Given the description of an element on the screen output the (x, y) to click on. 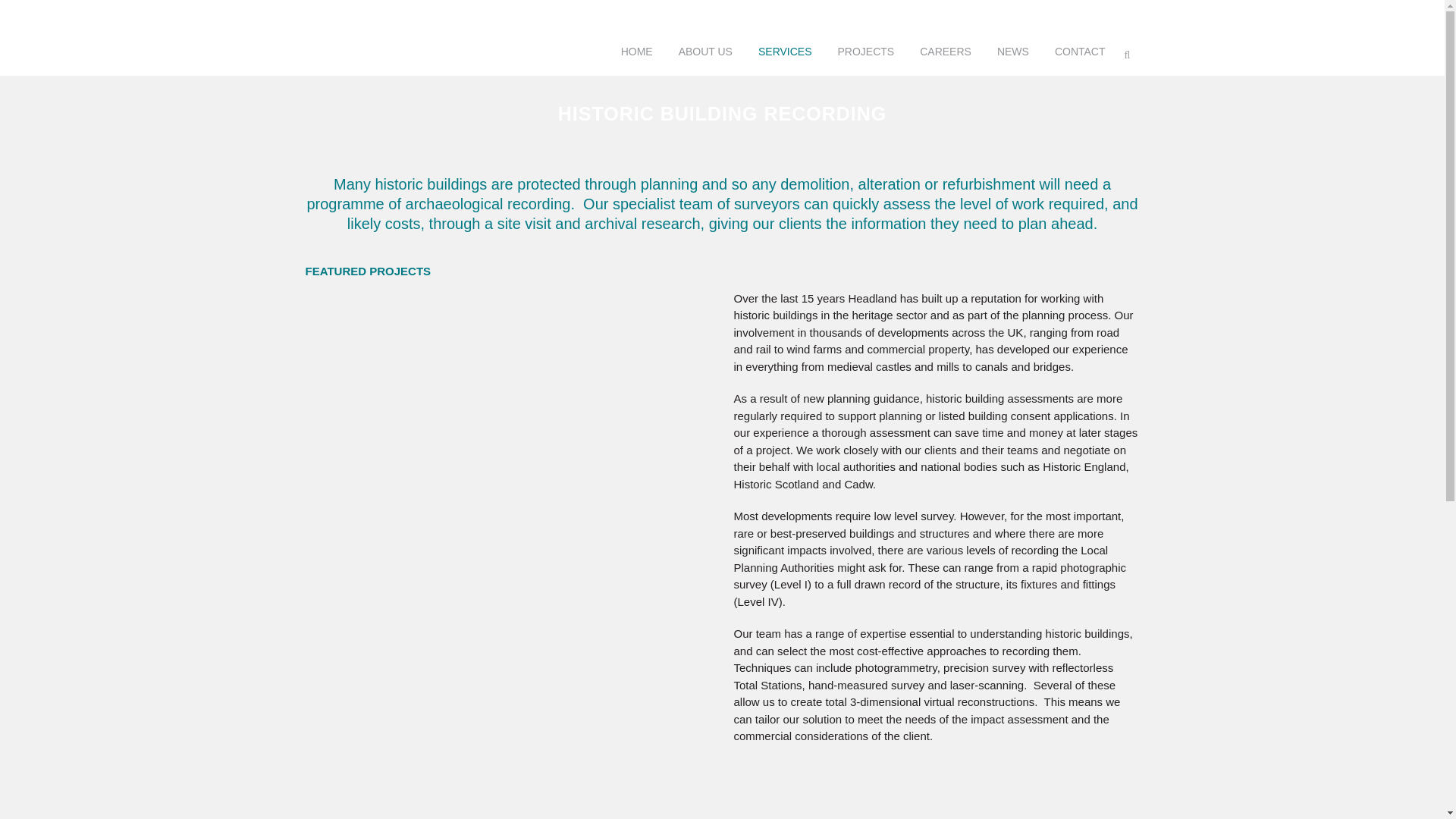
CAREERS (945, 51)
SERVICES (785, 51)
PROJECTS (866, 51)
ABOUT US (705, 51)
